Given the description of an element on the screen output the (x, y) to click on. 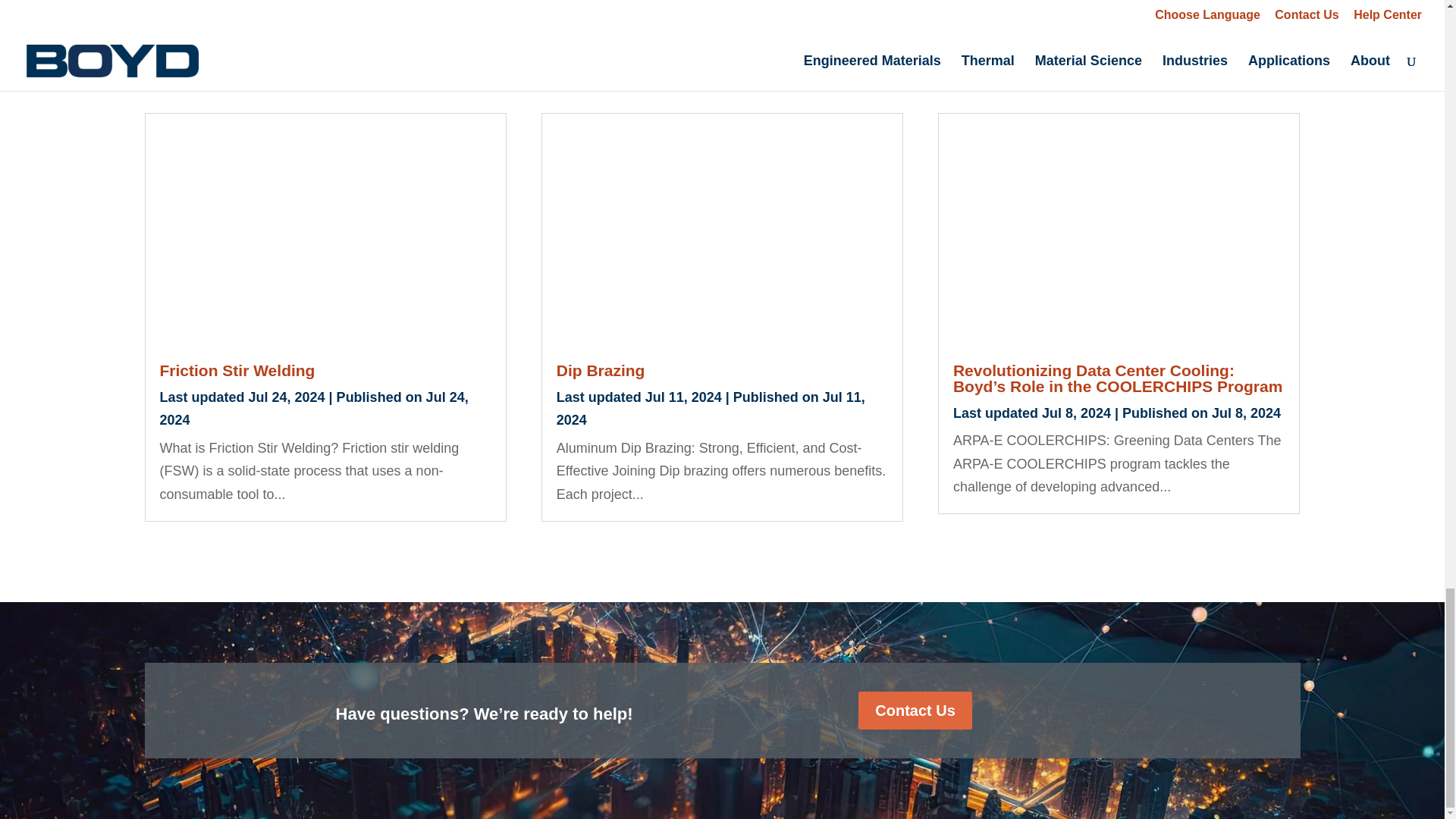
Friction Stir Welding (236, 370)
Dip Brazing (600, 370)
Contact Us (915, 710)
